Given the description of an element on the screen output the (x, y) to click on. 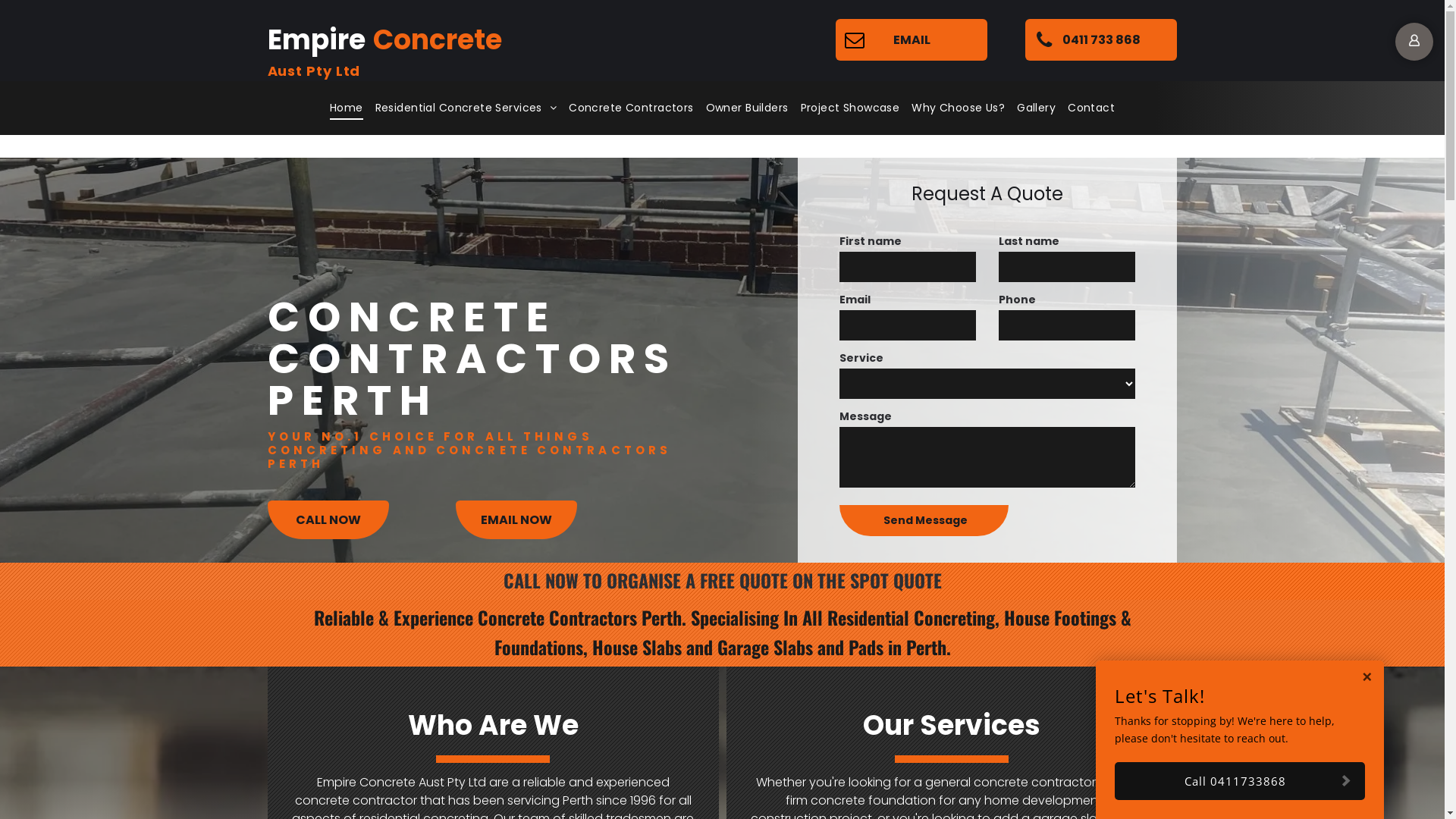
Residential Concrete Services Element type: text (466, 107)
Project Showcase Element type: text (850, 107)
Gallery Element type: text (1035, 107)
Owner Builders Element type: text (746, 107)
Concrete Element type: text (437, 39)
CALL NOW Element type: text (327, 519)
Concrete Contractors Element type: text (630, 107)
Send Message Element type: text (925, 520)
0411 733 868 Element type: text (1100, 39)
Home Element type: text (346, 107)
Call 0411733868 Element type: text (1239, 781)
Empire Element type: text (315, 39)
EMAIL NOW Element type: text (516, 519)
Why Choose Us? Element type: text (957, 107)
Contact Element type: text (1090, 107)
EMAIL Element type: text (911, 39)
